Given the description of an element on the screen output the (x, y) to click on. 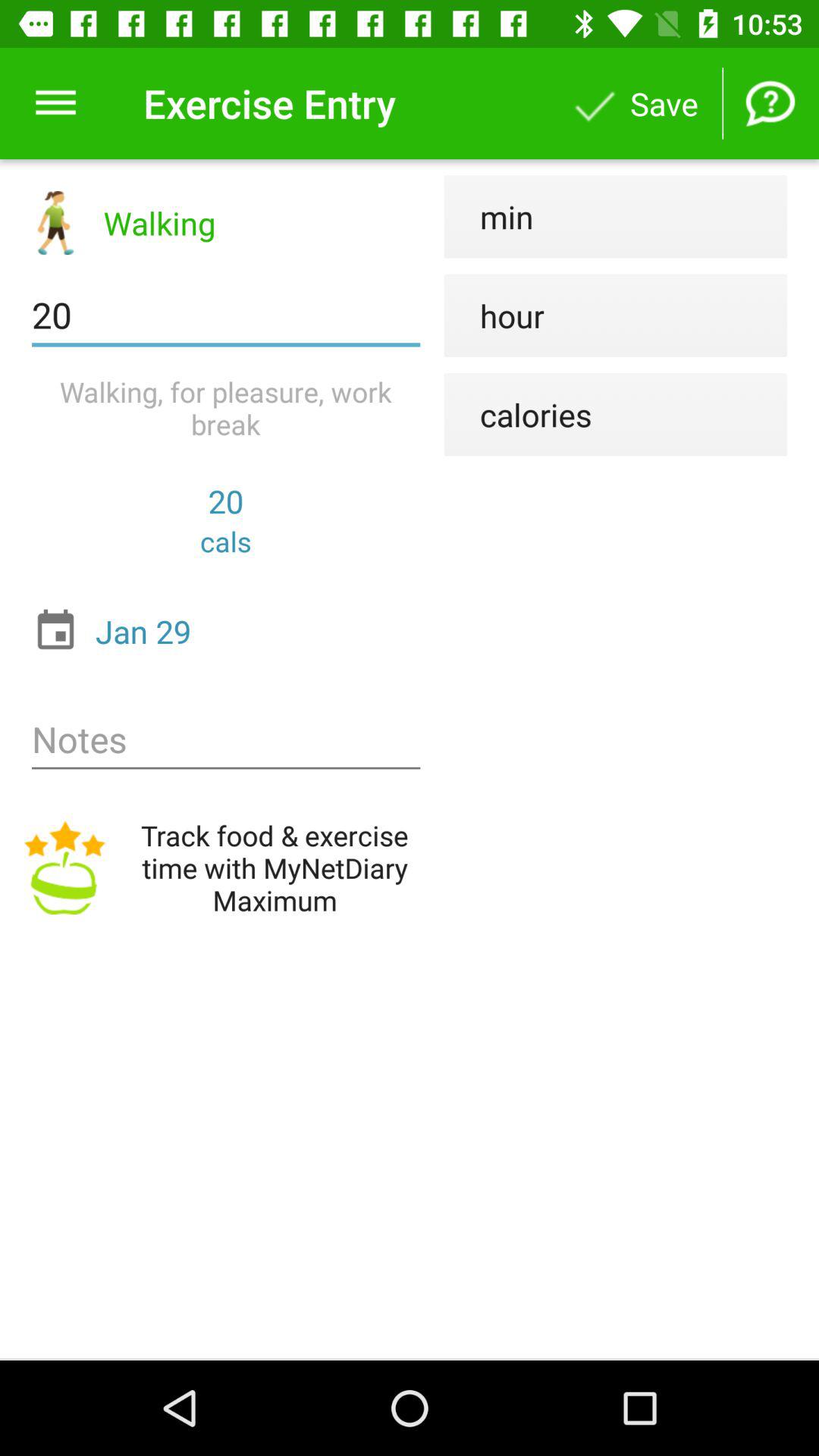
open track food exercise icon (225, 867)
